Given the description of an element on the screen output the (x, y) to click on. 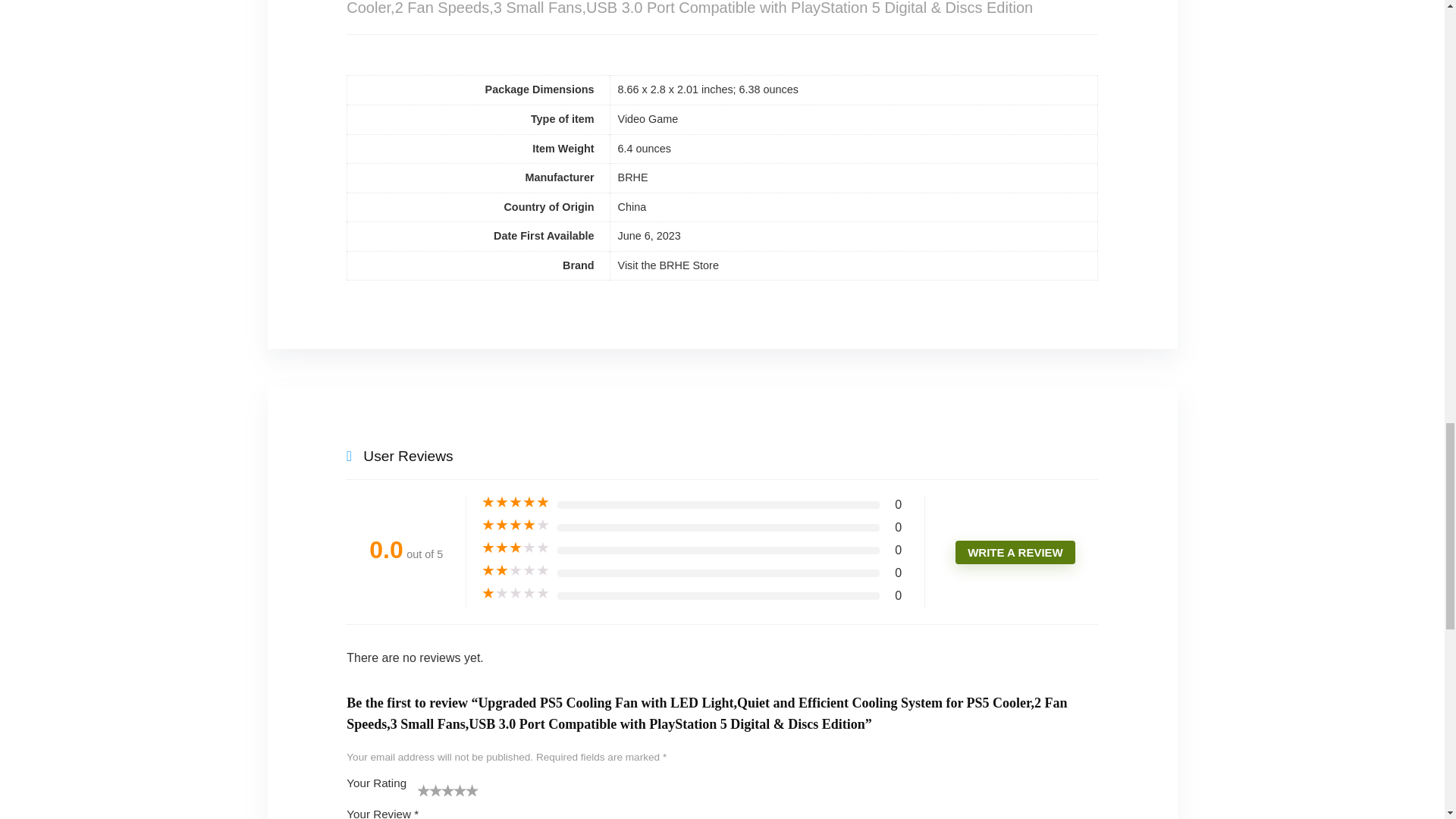
Rated 2 out of 5 (515, 570)
Rated 5 out of 5 (515, 502)
Rated 3 out of 5 (515, 548)
WRITE A REVIEW (1015, 552)
Rated 4 out of 5 (515, 525)
